Given the description of an element on the screen output the (x, y) to click on. 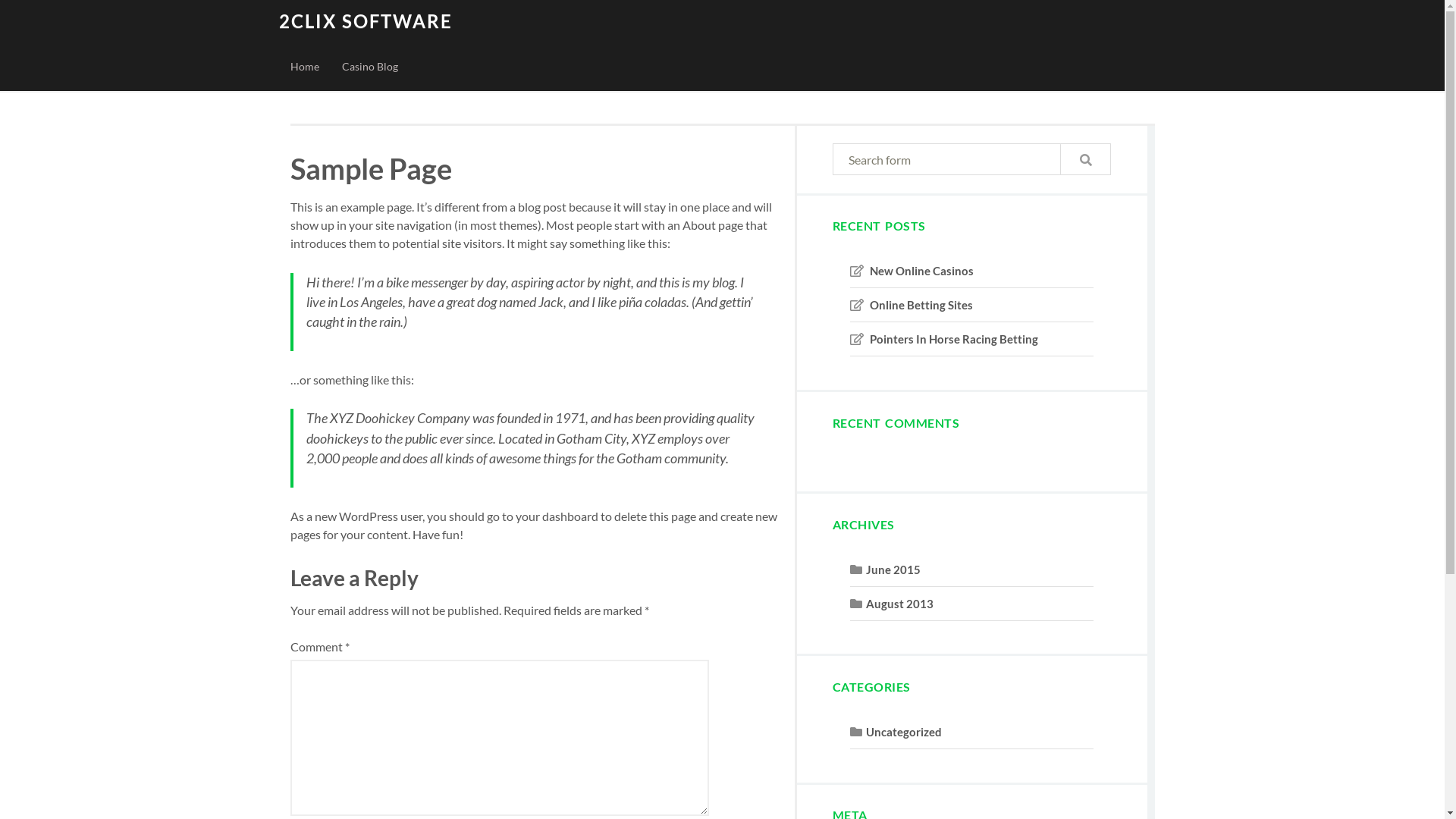
Online Betting Sites Element type: text (920, 304)
Uncategorized Element type: text (903, 731)
Home Element type: text (304, 66)
August 2013 Element type: text (899, 603)
June 2015 Element type: text (893, 569)
Pointers In Horse Racing Betting Element type: text (953, 338)
2CLIX SOFTWARE Element type: text (365, 20)
New Online Casinos Element type: text (921, 270)
Casino Blog Element type: text (369, 66)
